Given the description of an element on the screen output the (x, y) to click on. 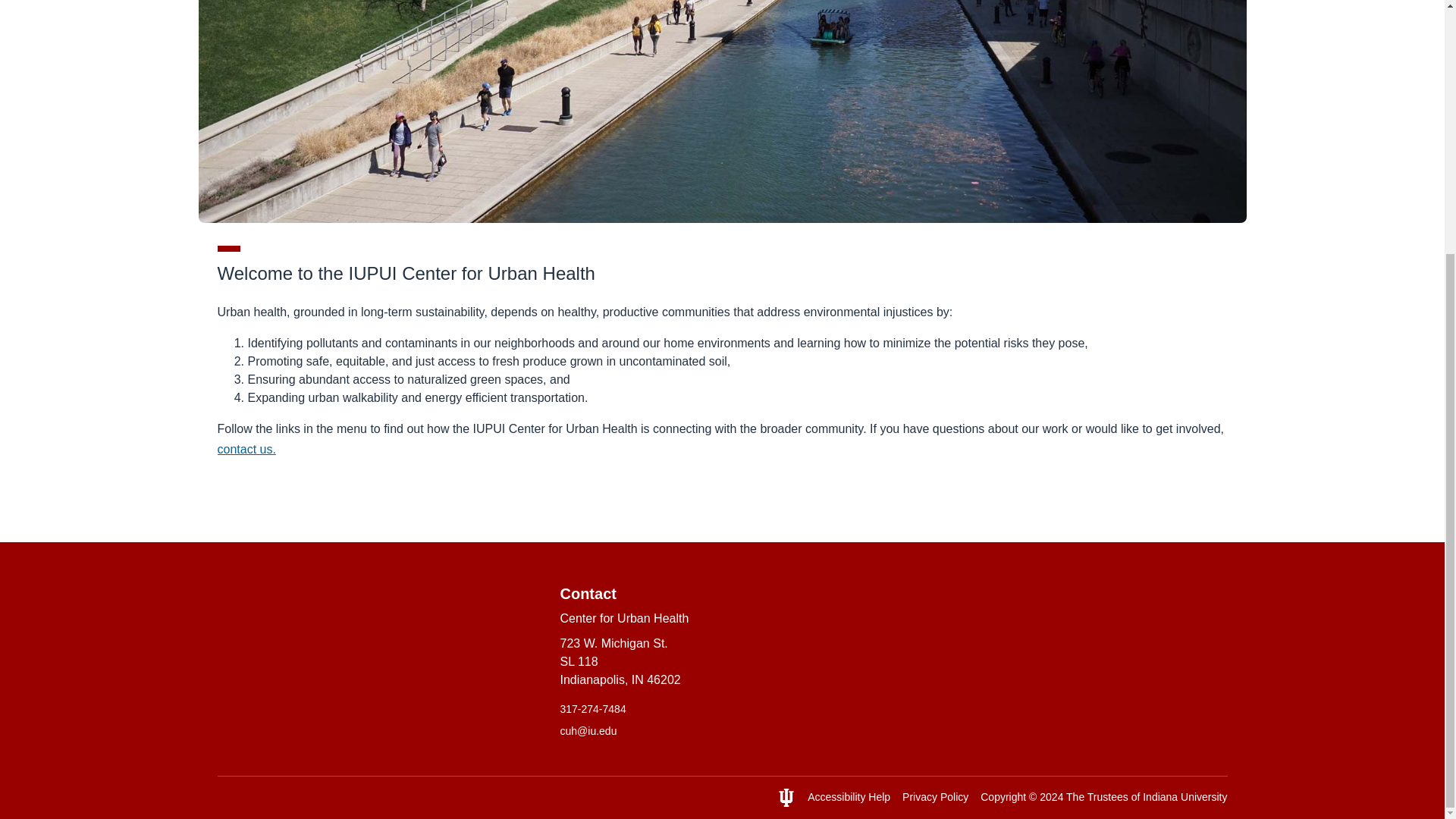
317-274-7484 (721, 709)
contact us. (245, 449)
Indiana University (1184, 797)
Privacy Policy (935, 797)
Copyright (1002, 797)
Privacy Policy (935, 797)
Accessibility Help (848, 797)
Indiana University (1184, 797)
Accessibility Help (848, 797)
